Given the description of an element on the screen output the (x, y) to click on. 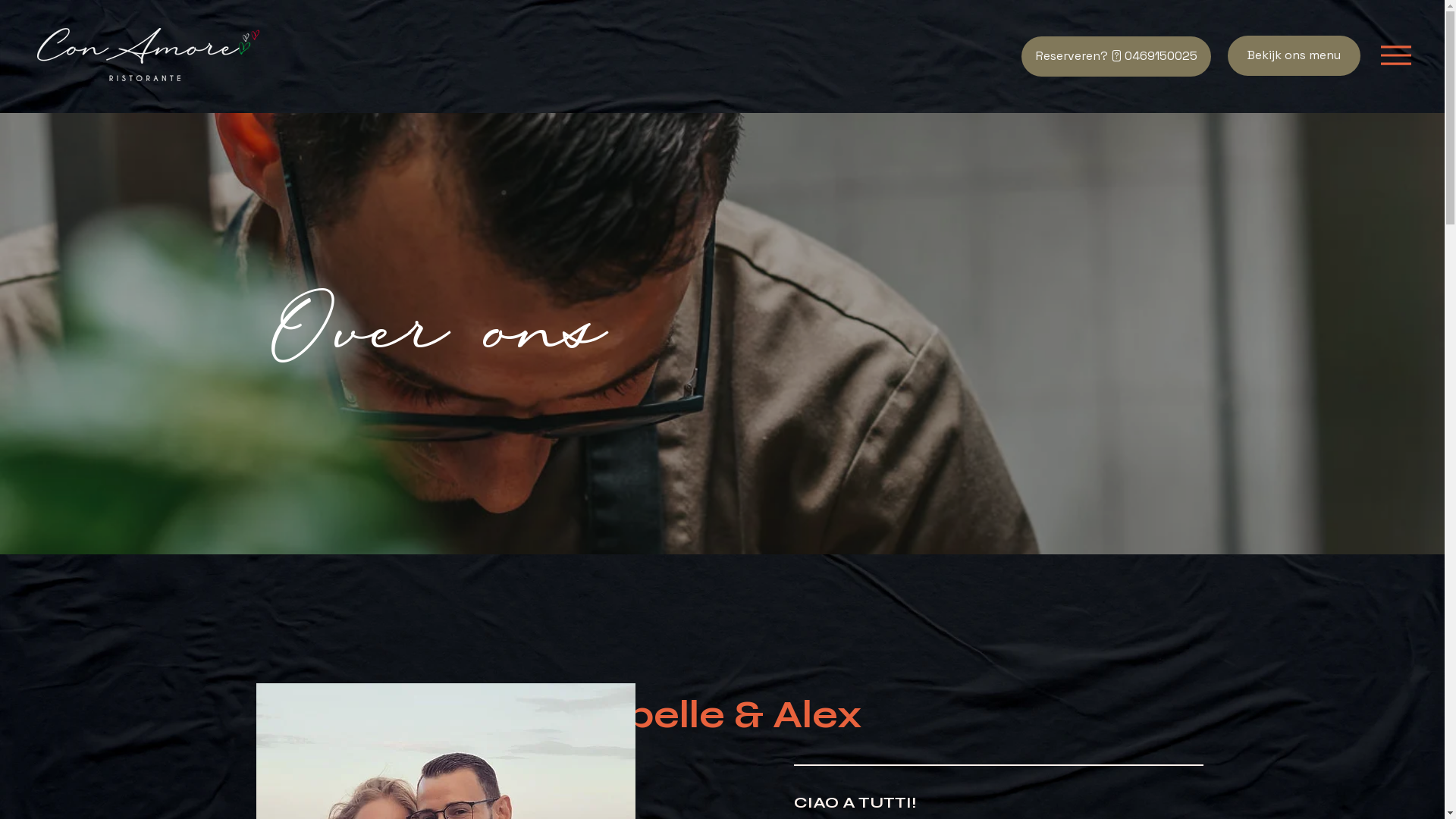
Bekijk ons menu Element type: text (1293, 55)
